Given the description of an element on the screen output the (x, y) to click on. 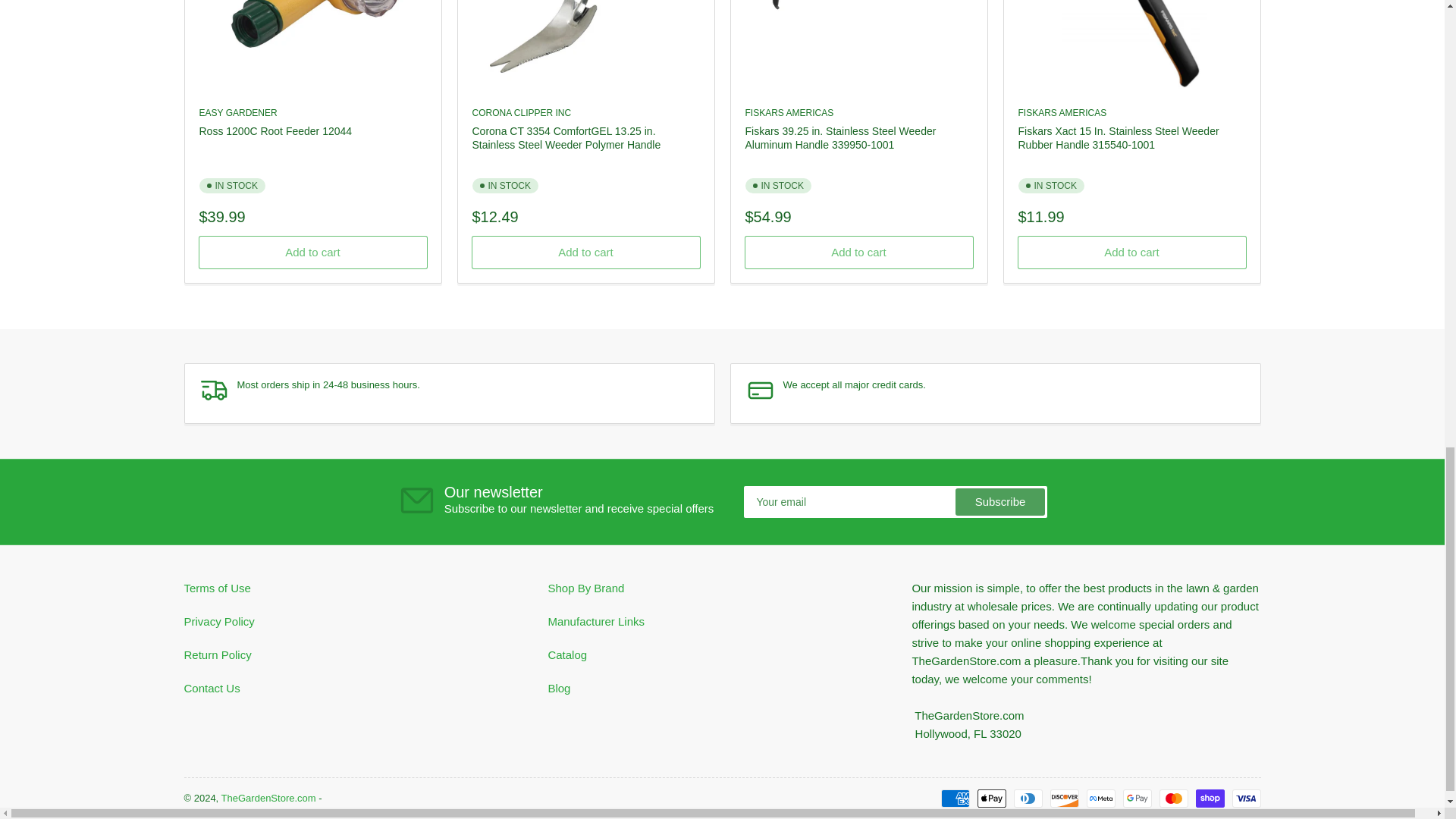
Return Policy (216, 654)
TheGardenStore.com Blog (558, 687)
Contact Us (211, 687)
Fiskars Americas (1061, 112)
Privacy Policy (218, 621)
American Express (954, 798)
All collections (566, 654)
Manufacturer Links (596, 621)
Apple Pay (991, 798)
Terms of Use (216, 587)
Shop By Brand (585, 587)
Corona Clipper Inc (520, 112)
Fiskars Americas (788, 112)
